Given the description of an element on the screen output the (x, y) to click on. 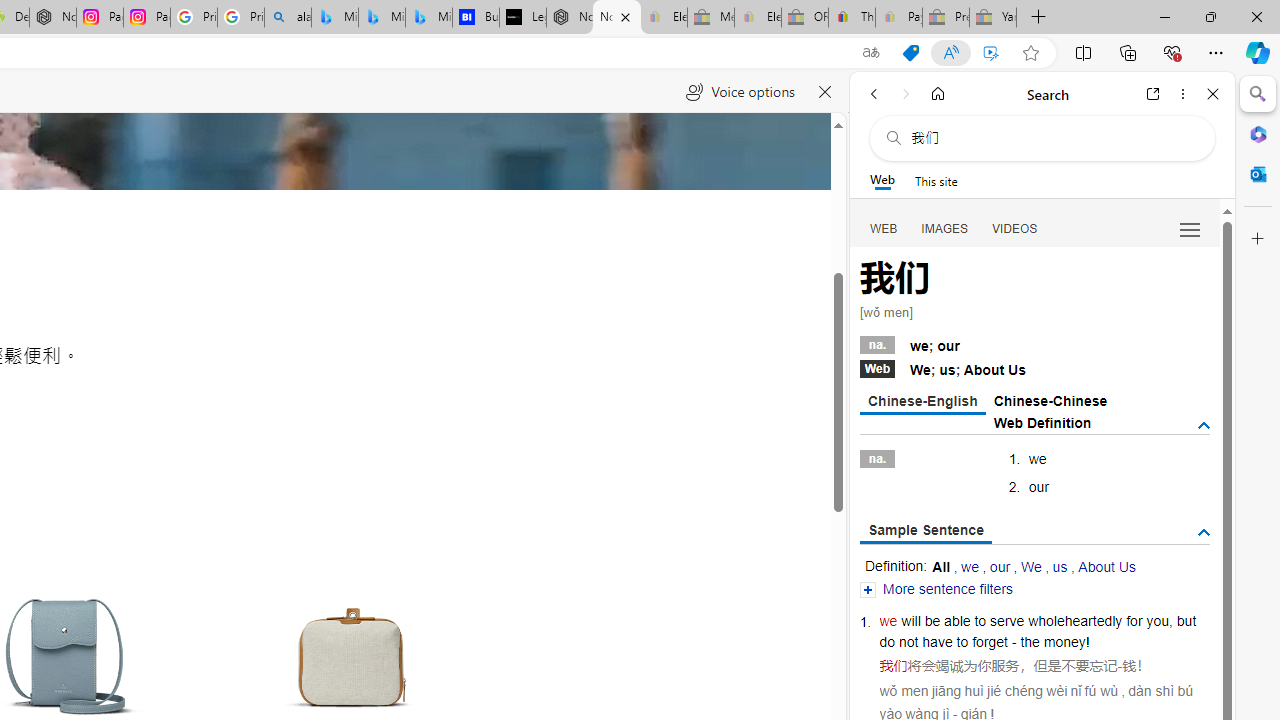
us (1059, 566)
Threats and offensive language policy | eBay (852, 17)
AutomationID: tgdef (1203, 425)
Microsoft Bing Travel - Flights from Hong Kong to Bangkok (335, 17)
we (888, 620)
Microsoft Bing Travel - Shangri-La Hotel Bangkok (428, 17)
serve (1007, 620)
